Given the description of an element on the screen output the (x, y) to click on. 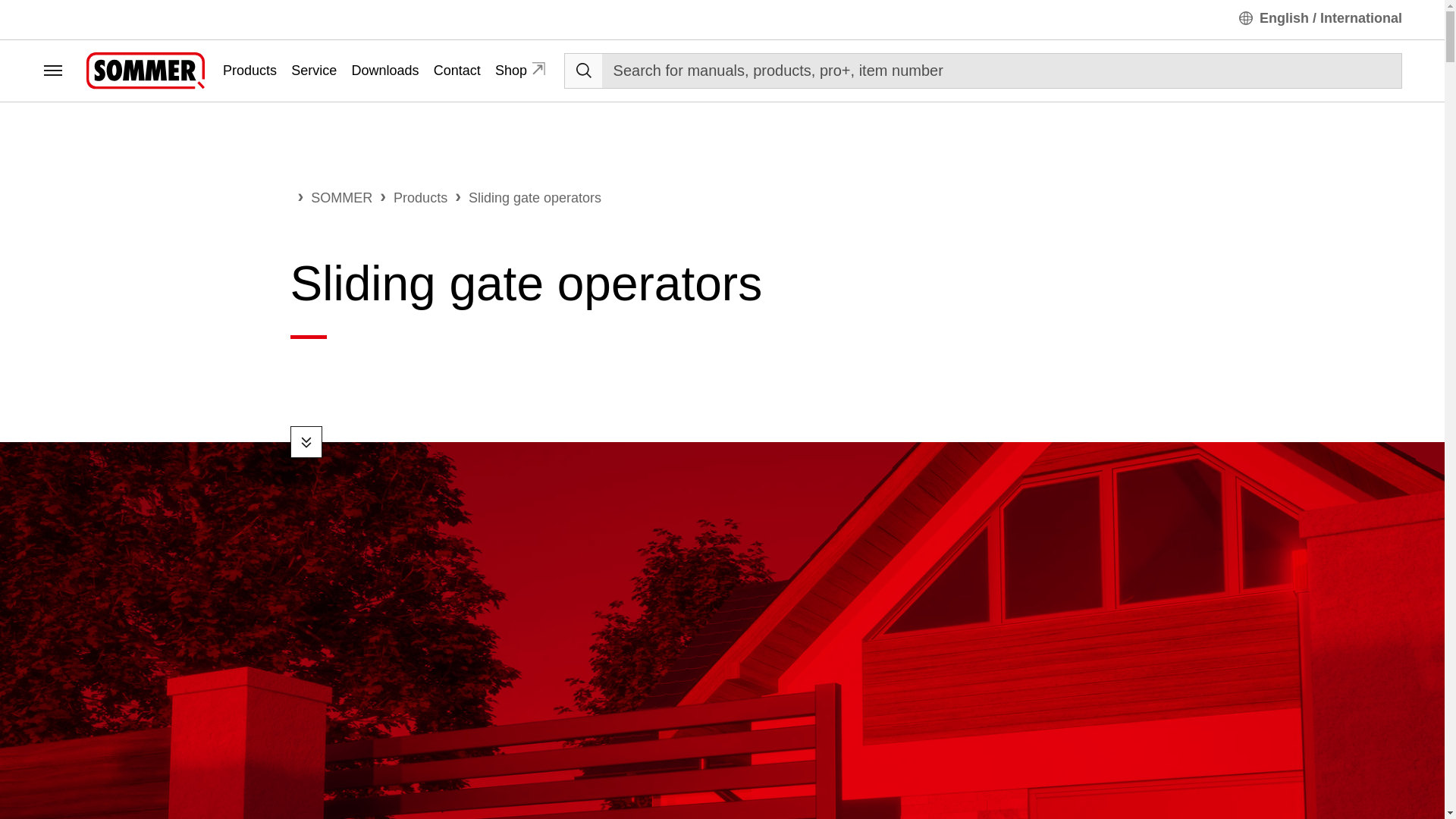
Products (419, 197)
Shop (520, 70)
Contact (456, 70)
Service (313, 70)
Products (249, 70)
SOMMER (341, 197)
SOMMER Antriebs- und Funktechnik GmbH (145, 69)
Downloads (384, 70)
